Given the description of an element on the screen output the (x, y) to click on. 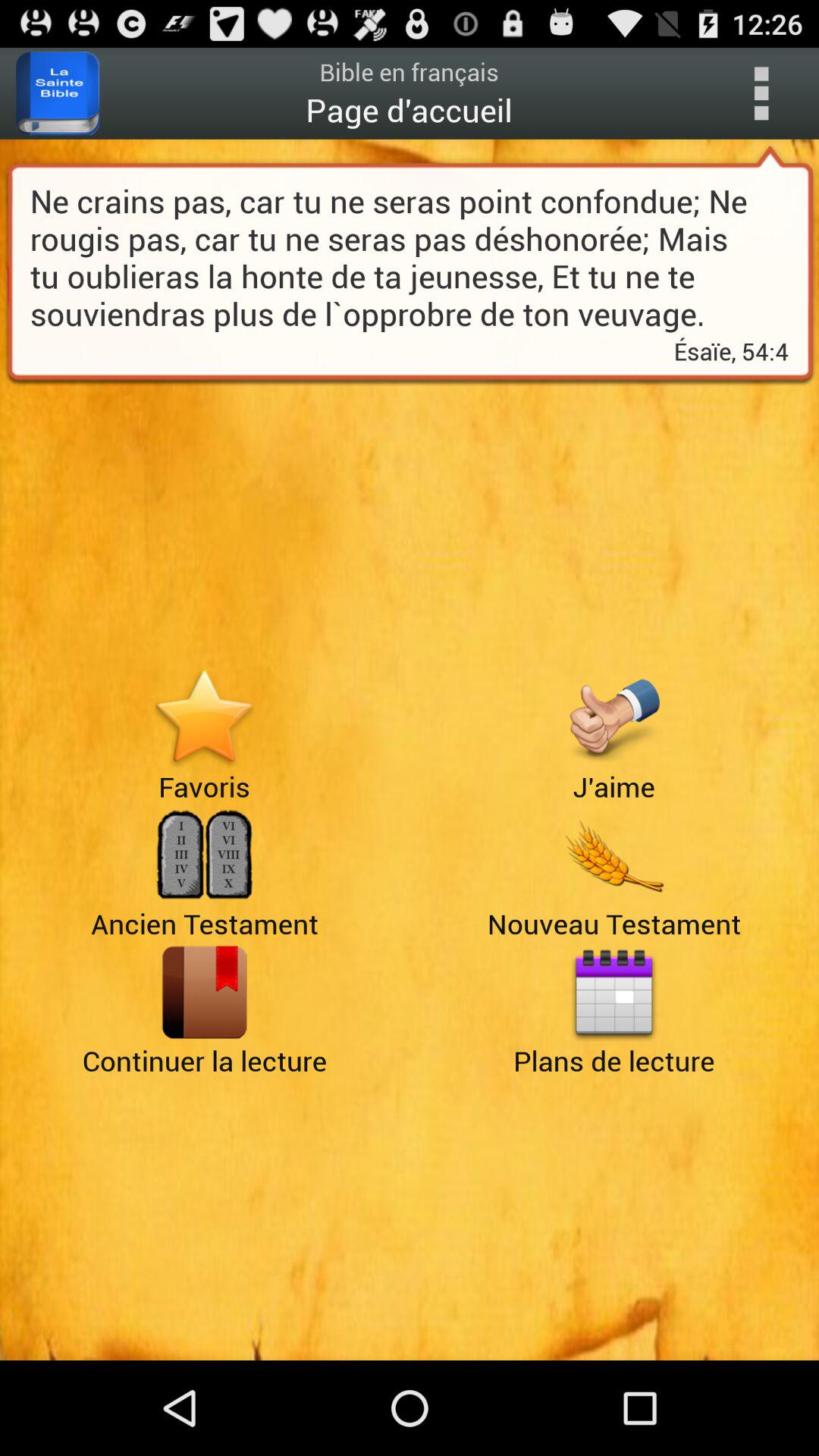
go to page (204, 991)
